Given the description of an element on the screen output the (x, y) to click on. 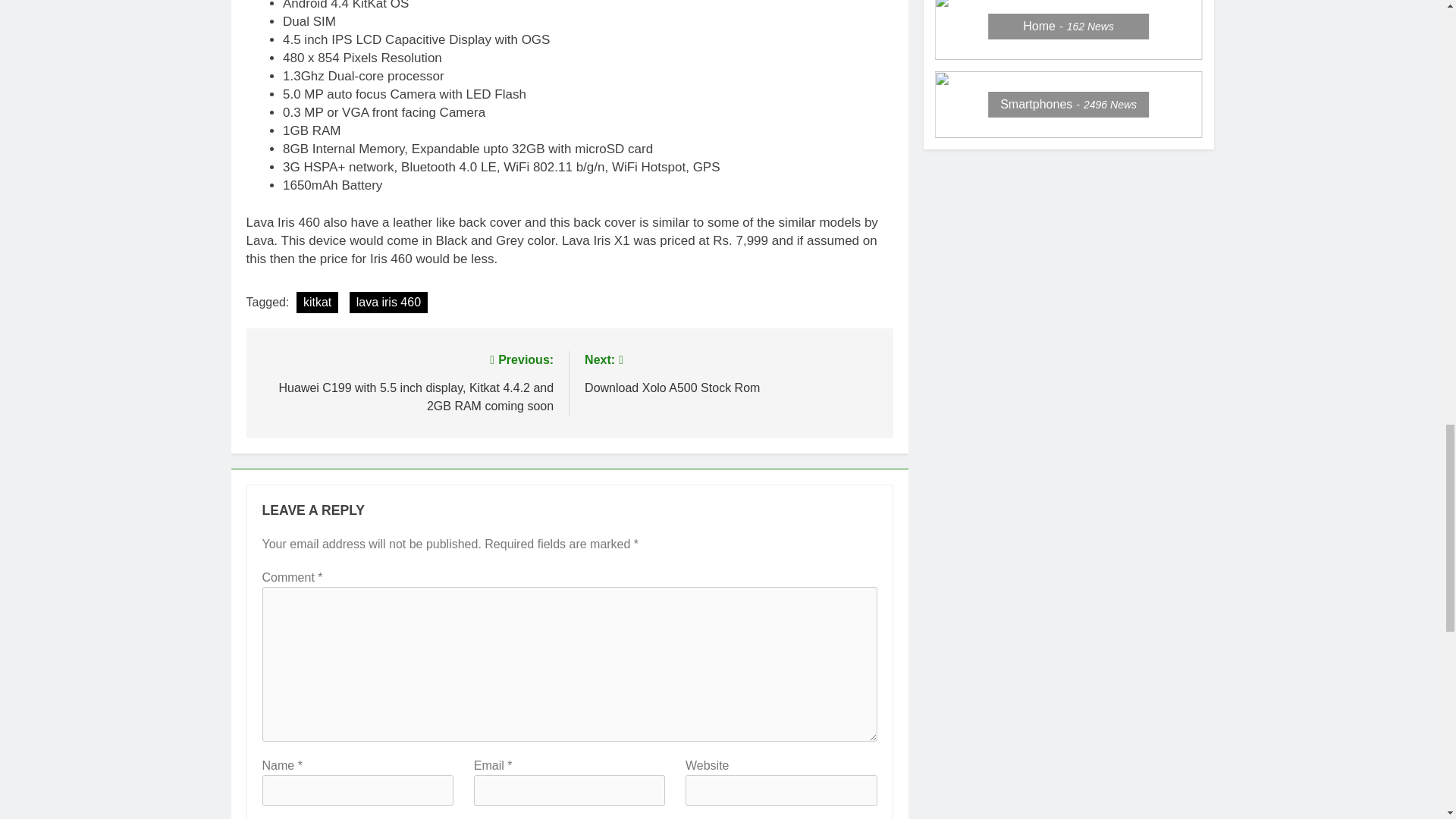
kitkat (317, 301)
lava iris 460 (388, 301)
